Given the description of an element on the screen output the (x, y) to click on. 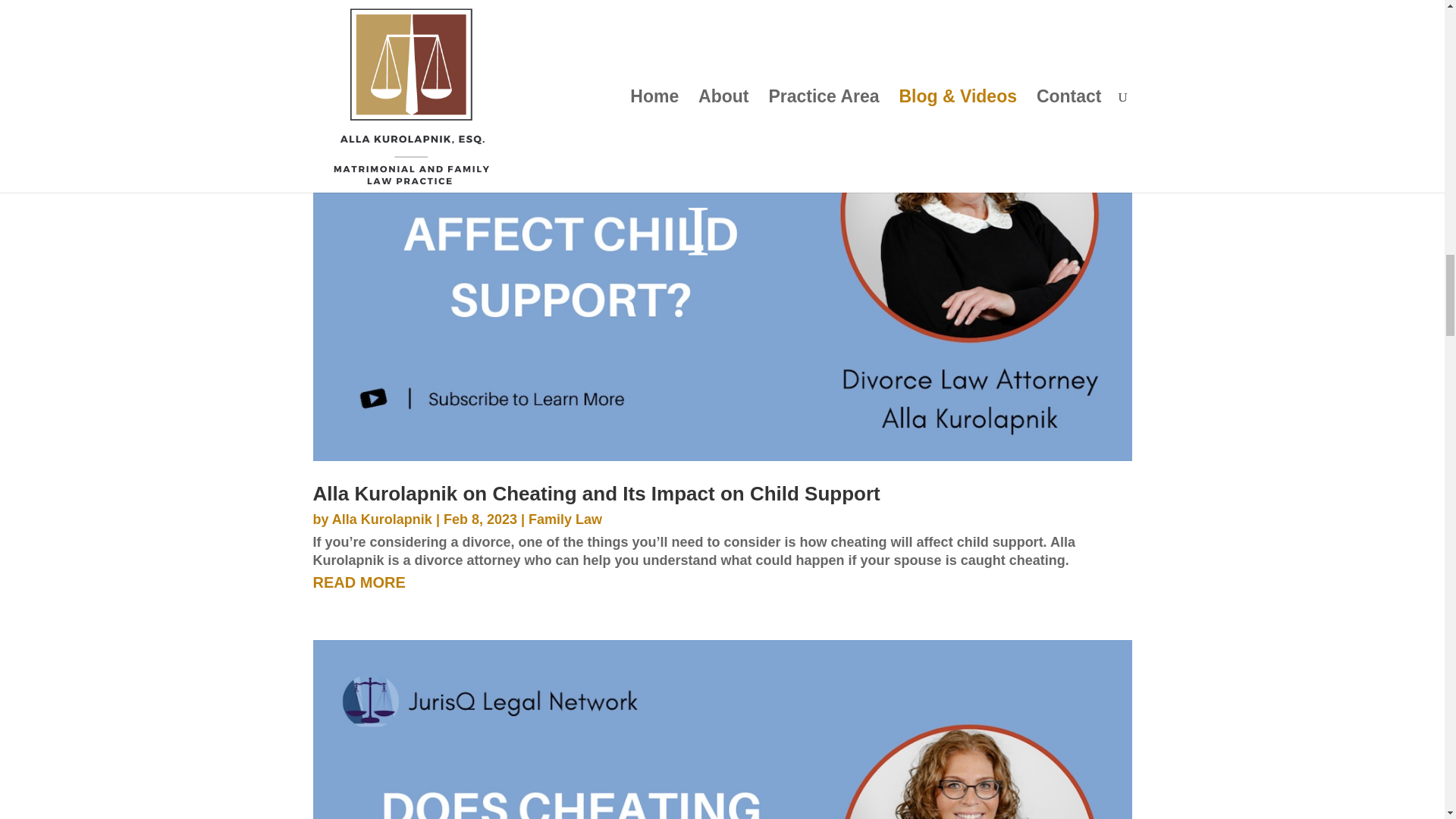
Posts by Alla Kurolapnik (381, 519)
Alla Kurolapnik on Cheating and Its Impact on Child Support (596, 493)
READ MORE (722, 582)
Family Law (565, 519)
Alla Kurolapnik (381, 519)
